Given the description of an element on the screen output the (x, y) to click on. 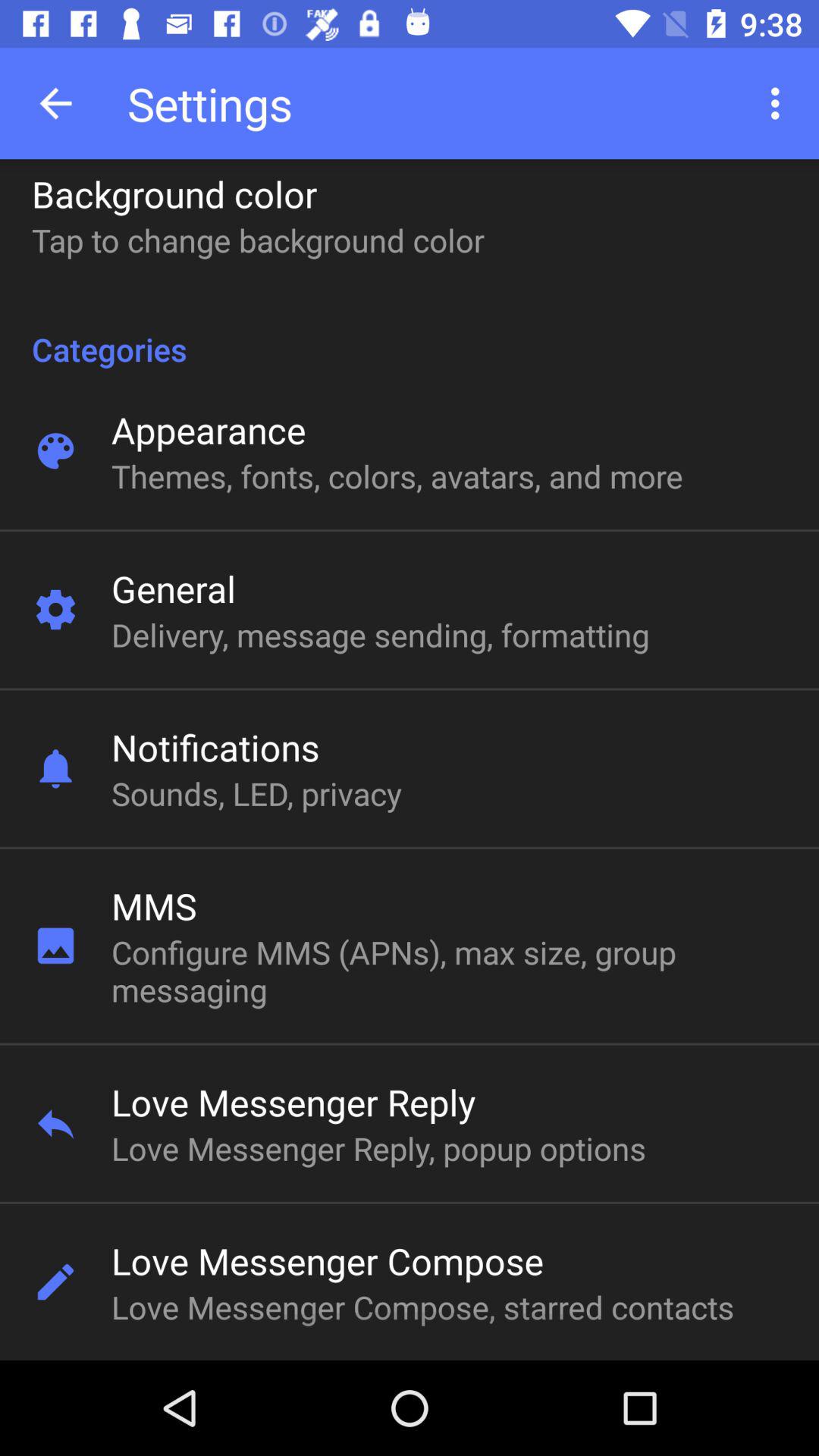
turn off the icon next to settings item (779, 103)
